Given the description of an element on the screen output the (x, y) to click on. 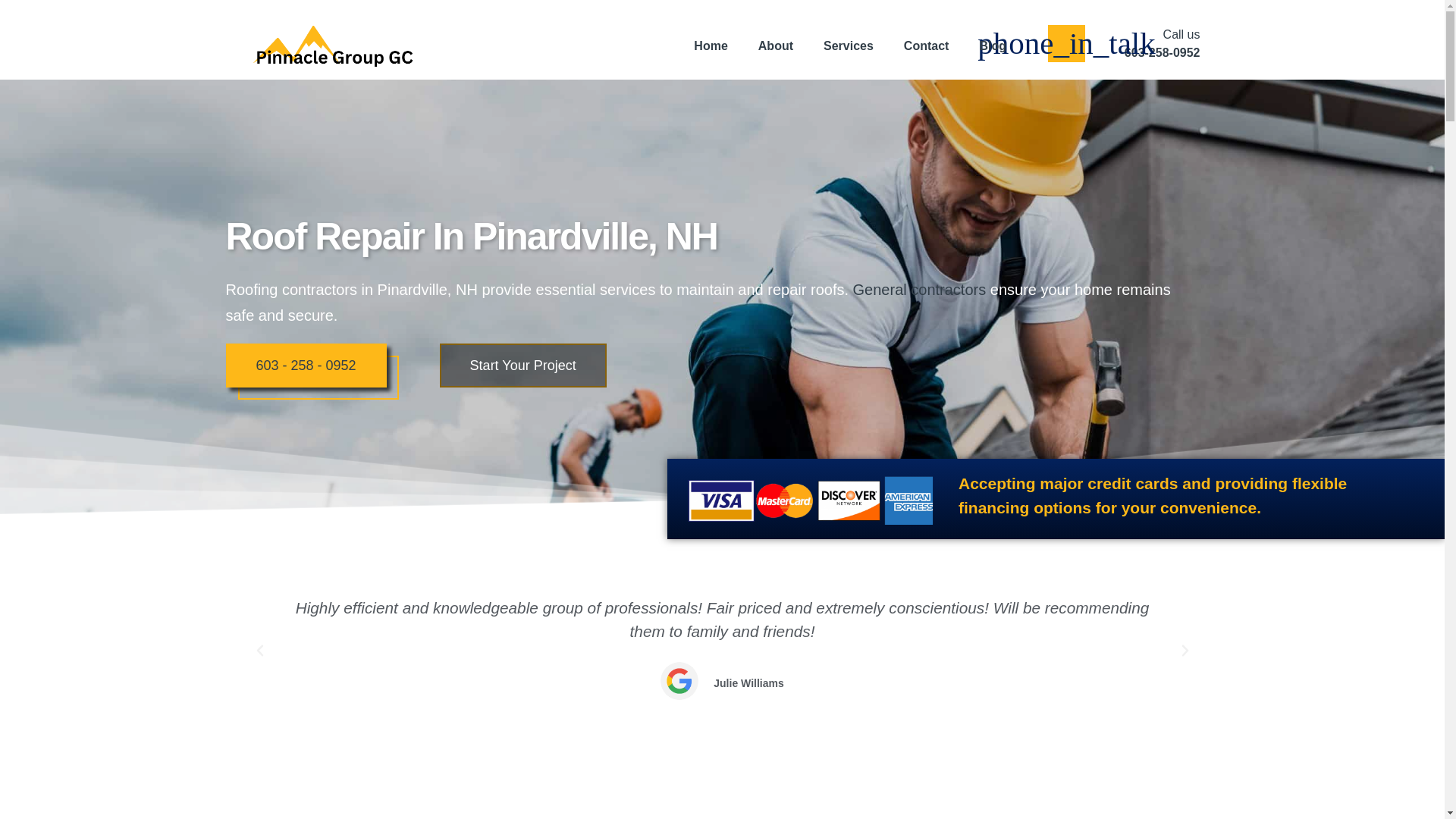
Contact (925, 46)
About (775, 46)
Blog (992, 46)
Home (710, 46)
Services (848, 46)
Home (920, 288)
